Given the description of an element on the screen output the (x, y) to click on. 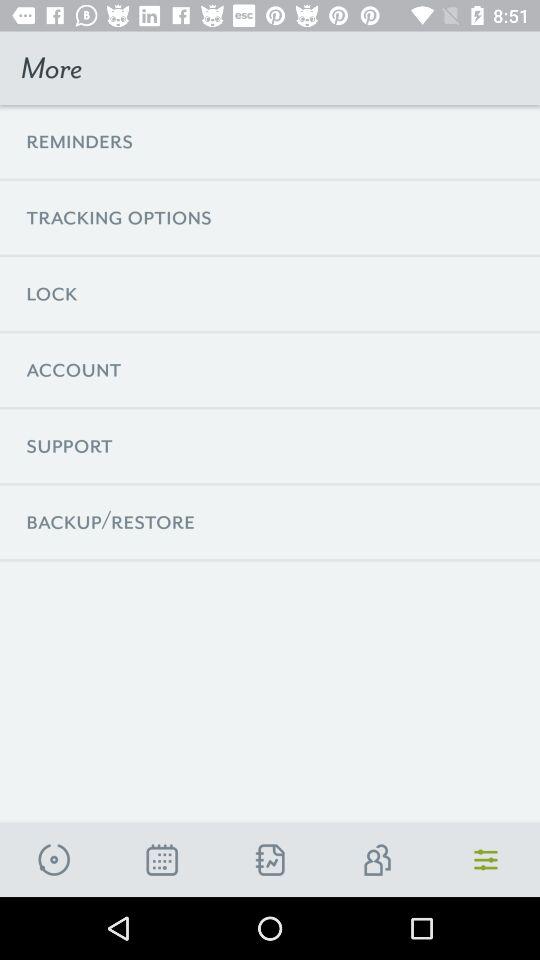
open notes (270, 860)
